Given the description of an element on the screen output the (x, y) to click on. 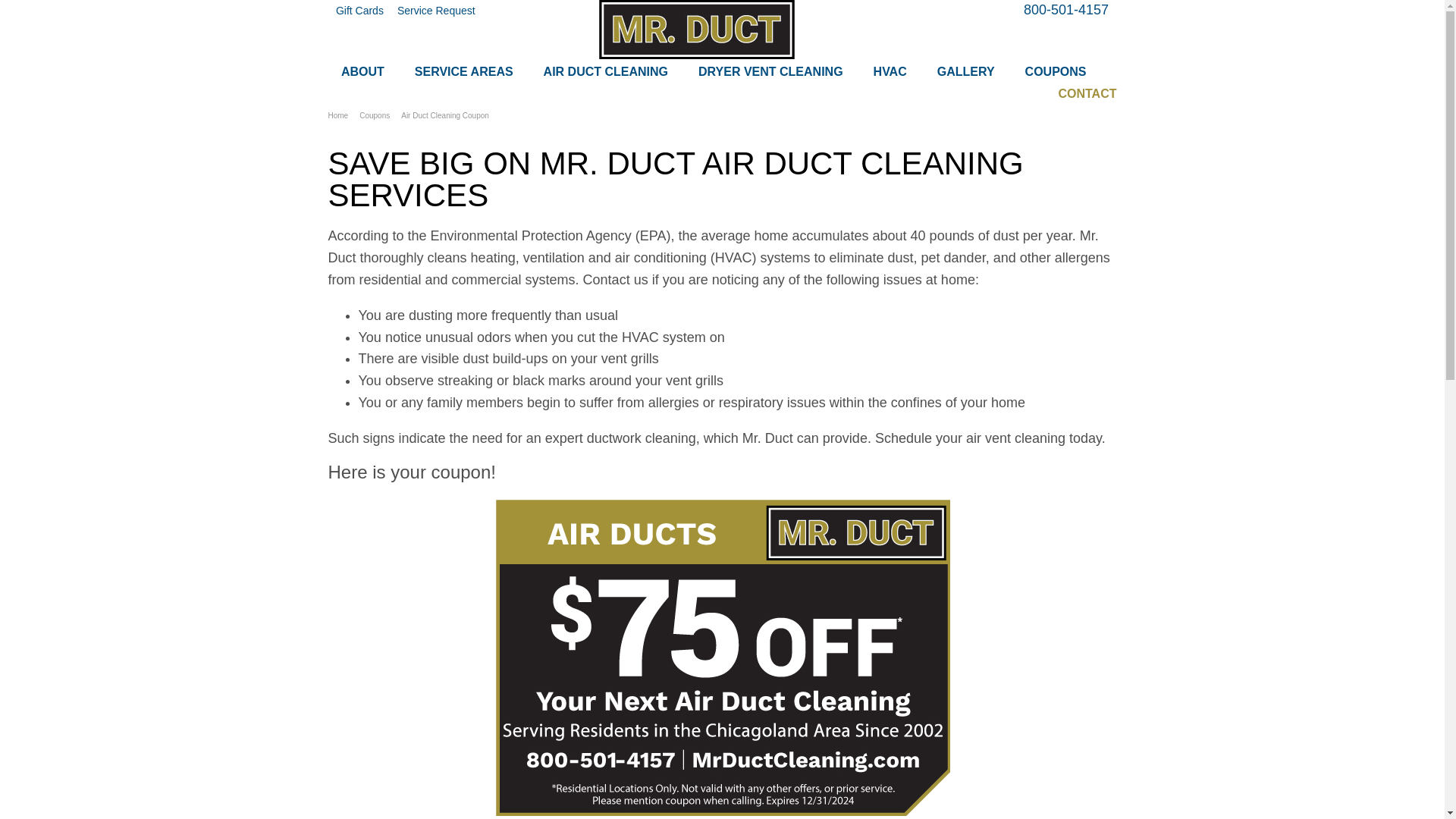
Mr. Duct Air Duct Cleaning logo (696, 29)
